Given the description of an element on the screen output the (x, y) to click on. 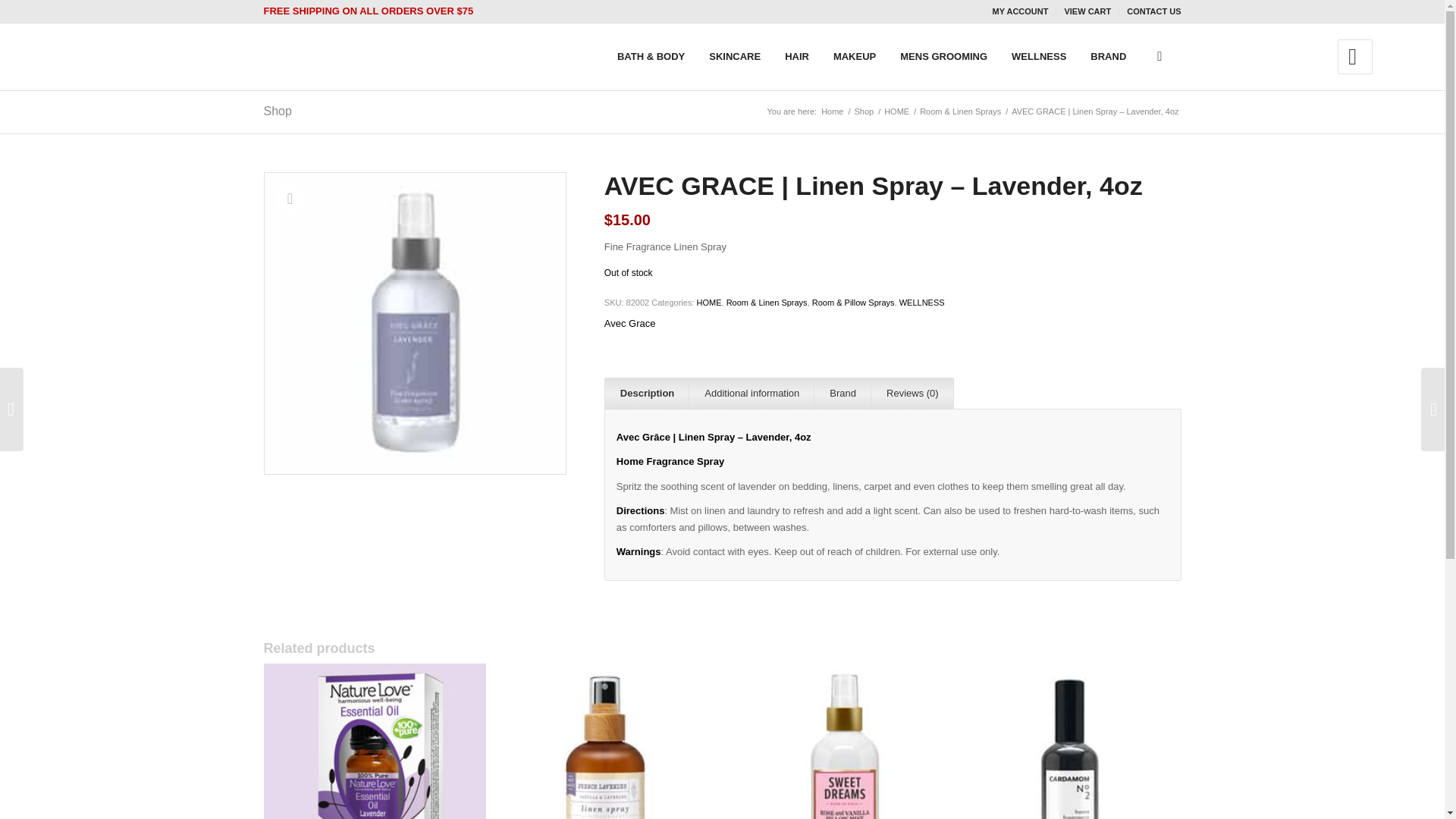
VIEW CART (1087, 11)
Additional information (750, 392)
BRAND (1108, 56)
JocottBrands (831, 111)
Permanent Link: Shop (277, 110)
SKINCARE (735, 56)
MENS GROOMING (943, 56)
Brand (841, 392)
MAKEUP (854, 56)
MY ACCOUNT (1020, 11)
